Given the description of an element on the screen output the (x, y) to click on. 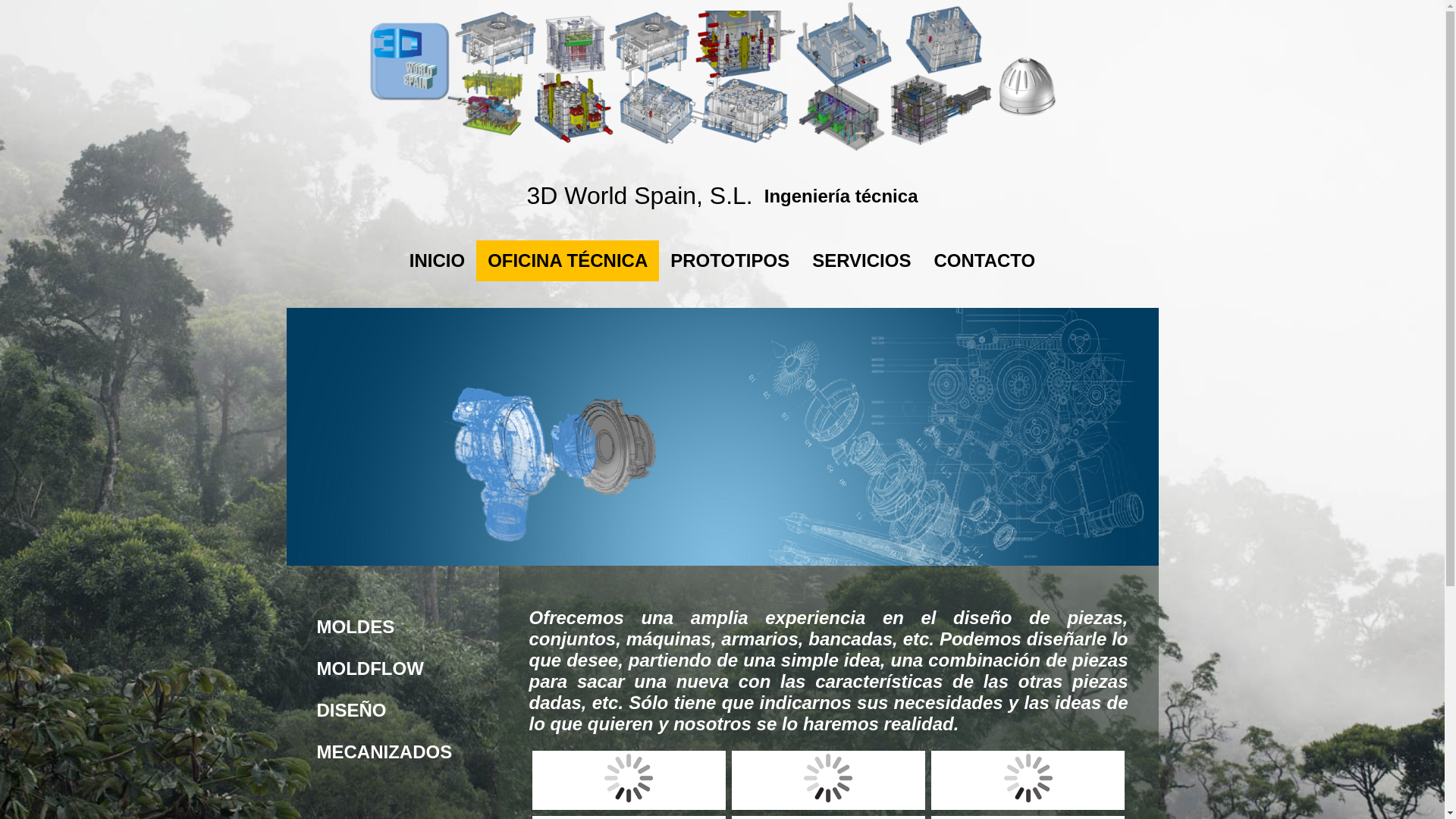
MOLDES Element type: text (391, 626)
MECANIZADOS Element type: text (391, 751)
MOLDFLOW Element type: text (391, 668)
INICIO Element type: text (437, 260)
SERVICIOS Element type: text (861, 260)
PROTOTIPOS Element type: text (729, 260)
CONTACTO Element type: text (984, 260)
